Given the description of an element on the screen output the (x, y) to click on. 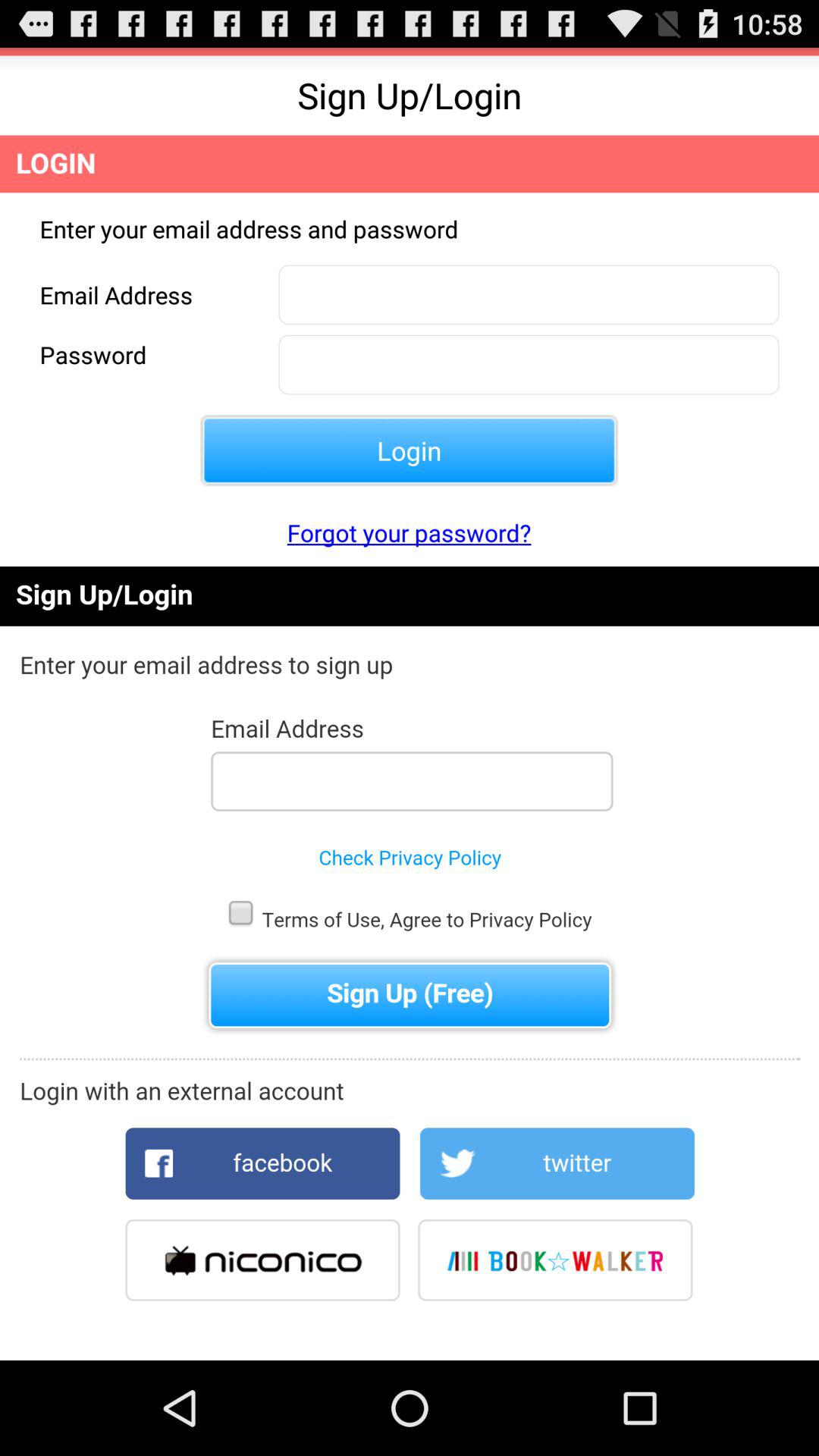
showing the sign up column (409, 963)
